Given the description of an element on the screen output the (x, y) to click on. 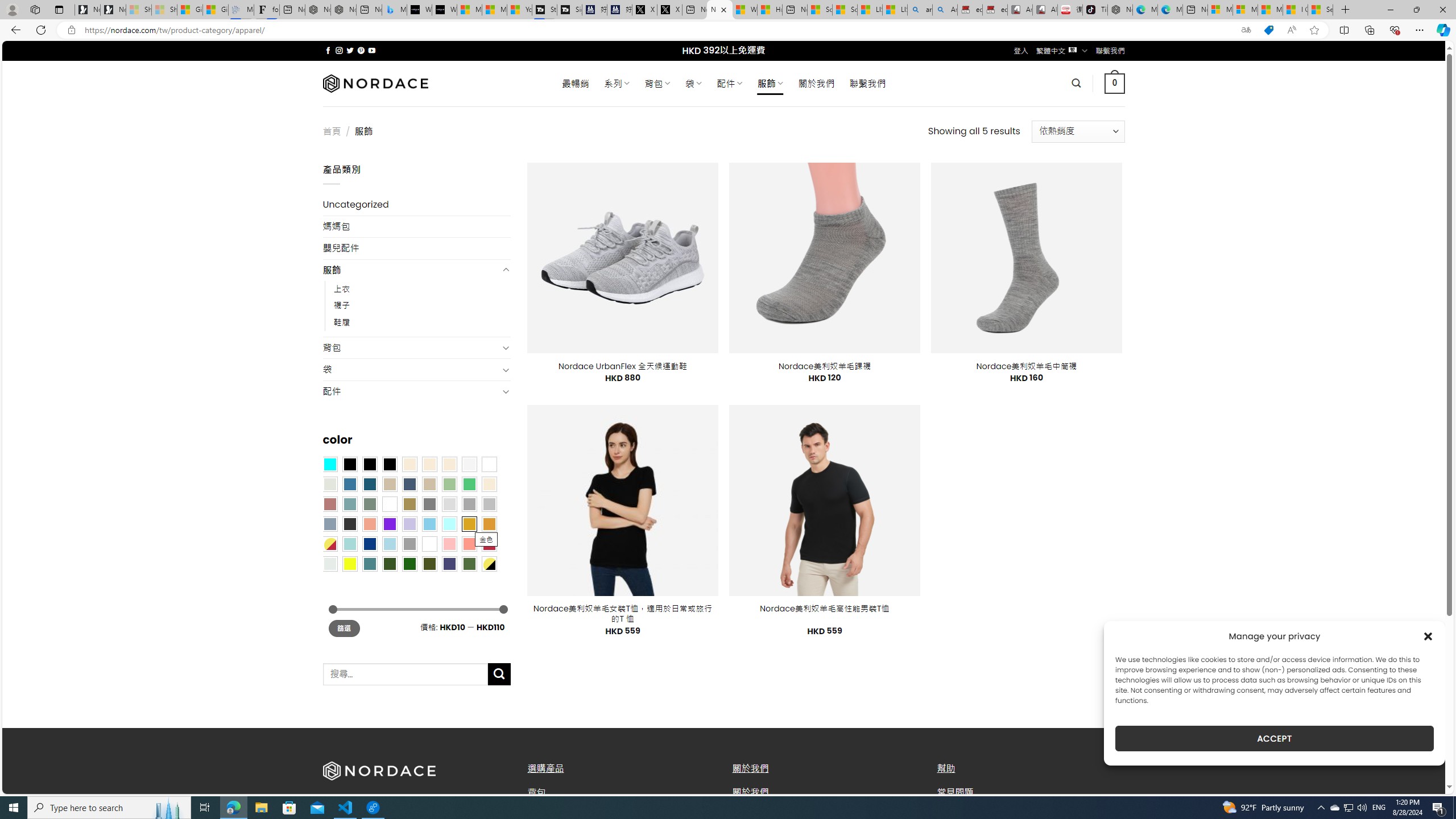
Follow on Twitter (349, 50)
Show translate options (1245, 29)
ACCEPT (1274, 738)
